Given the description of an element on the screen output the (x, y) to click on. 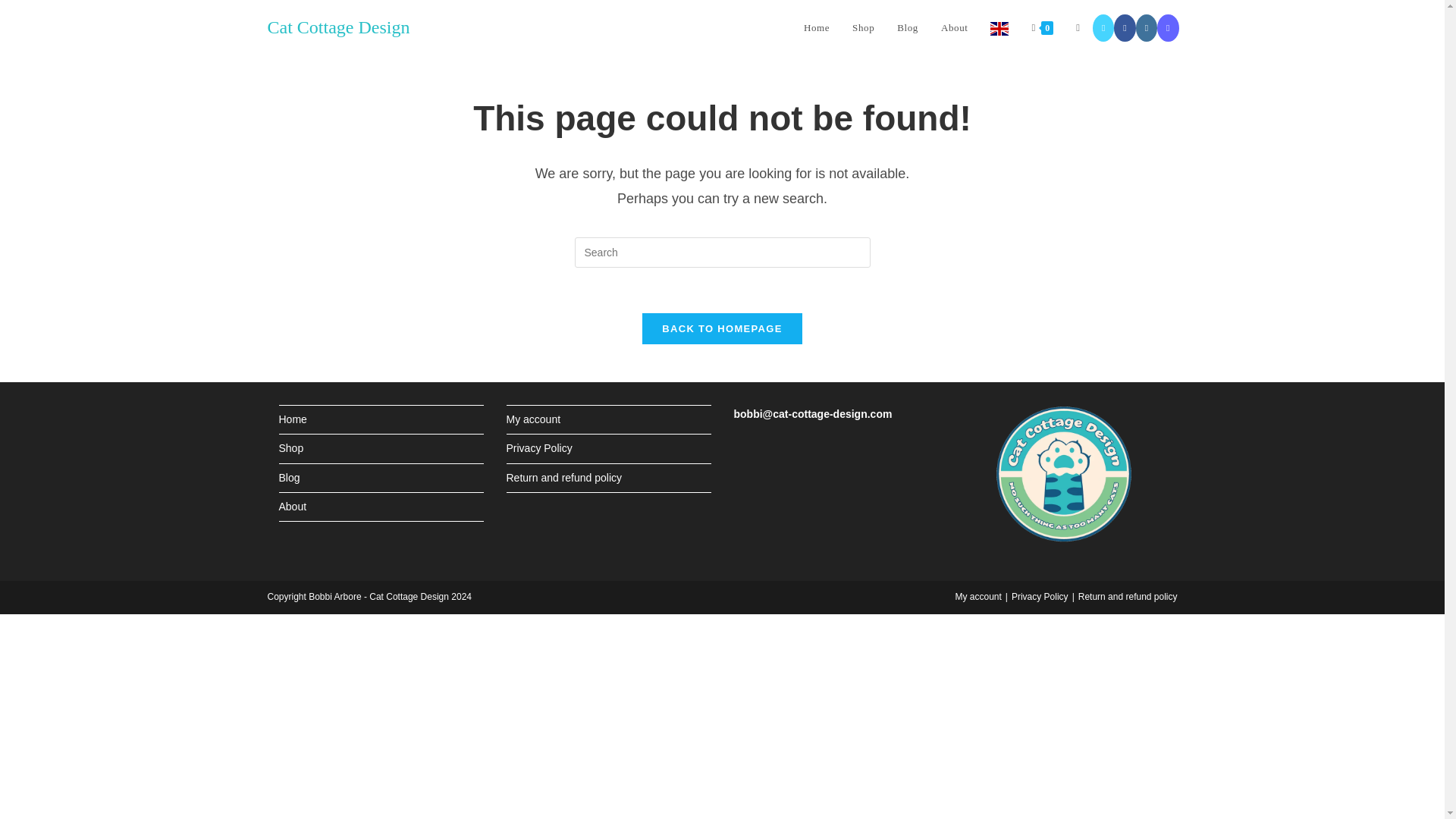
BACK TO HOMEPAGE (722, 327)
Cat Cottage Design (337, 26)
About (954, 28)
